Given the description of an element on the screen output the (x, y) to click on. 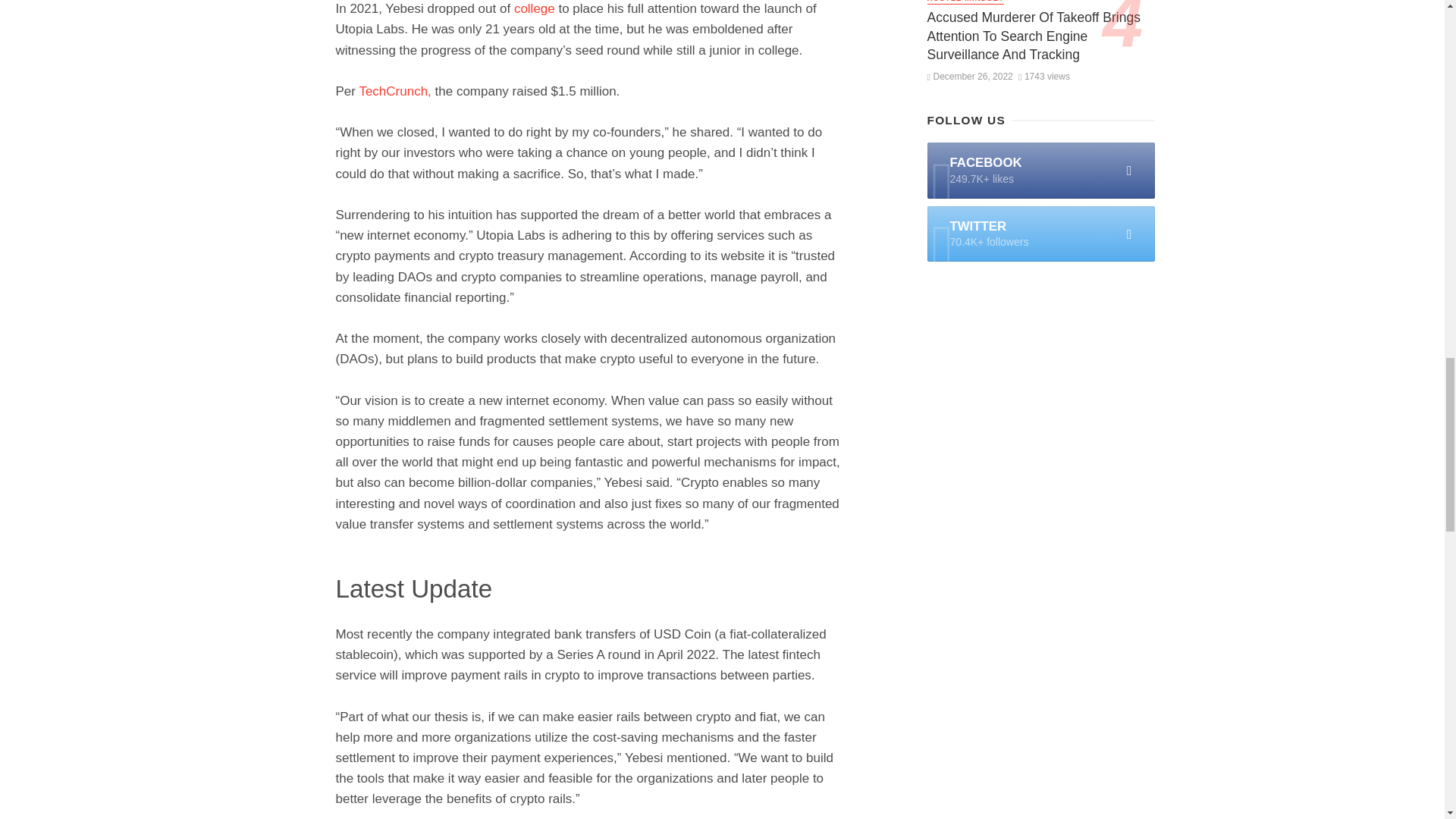
TechCrunch, (394, 91)
college (533, 8)
